Given the description of an element on the screen output the (x, y) to click on. 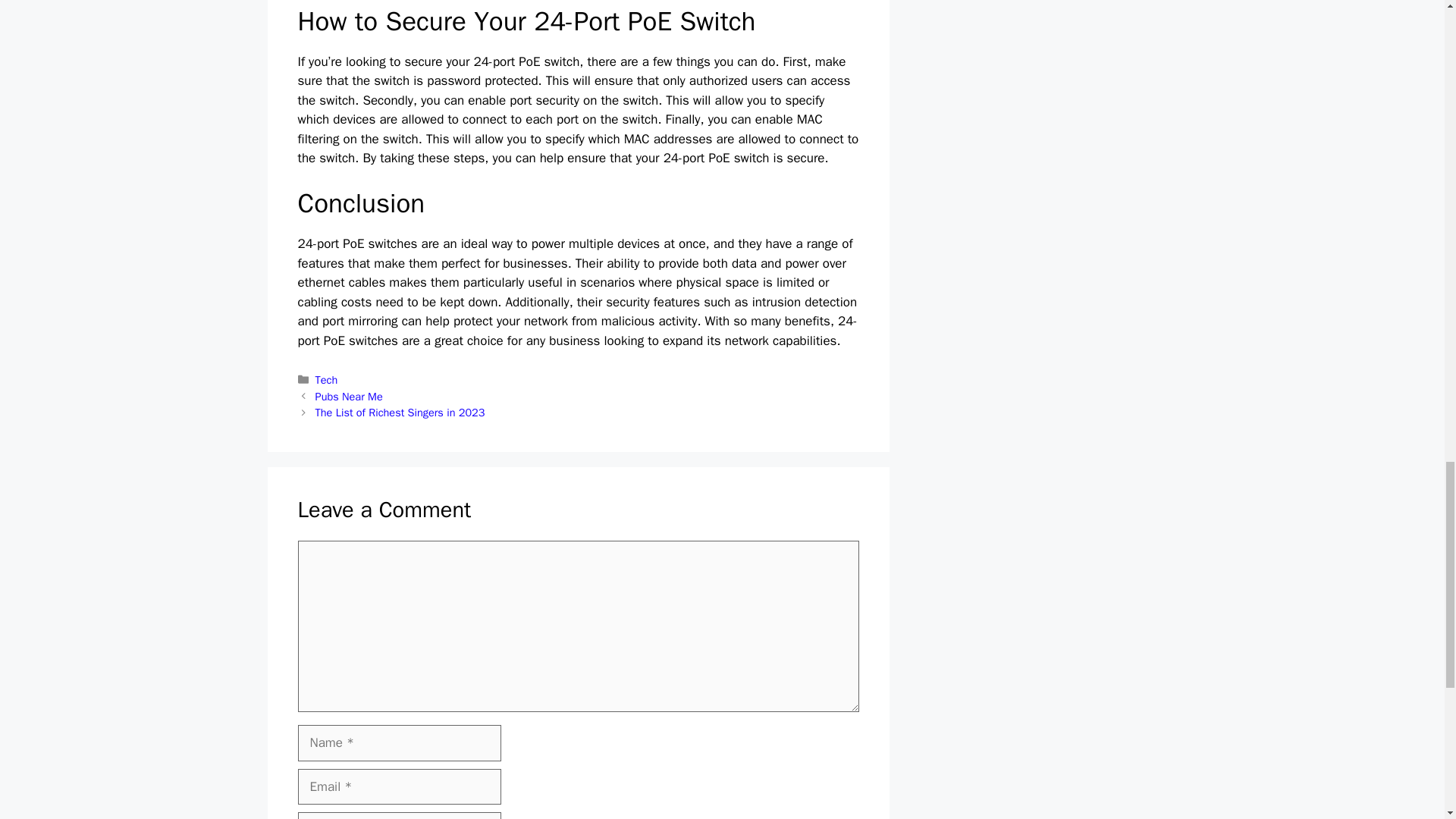
Tech (326, 379)
The List of Richest Singers in 2023 (399, 412)
Pubs Near Me (348, 396)
